Given the description of an element on the screen output the (x, y) to click on. 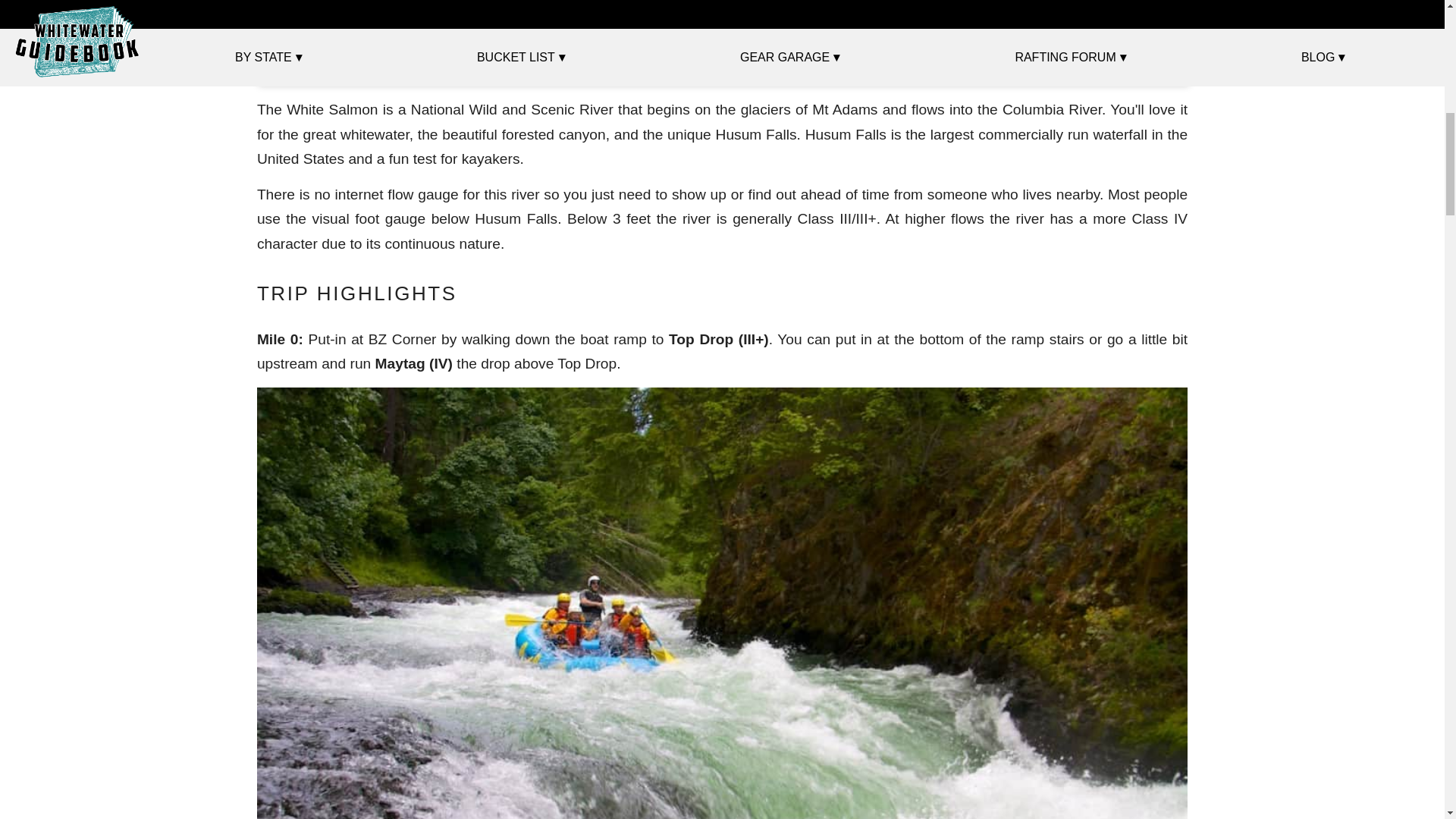
River Drifters (371, 45)
